Given the description of an element on the screen output the (x, y) to click on. 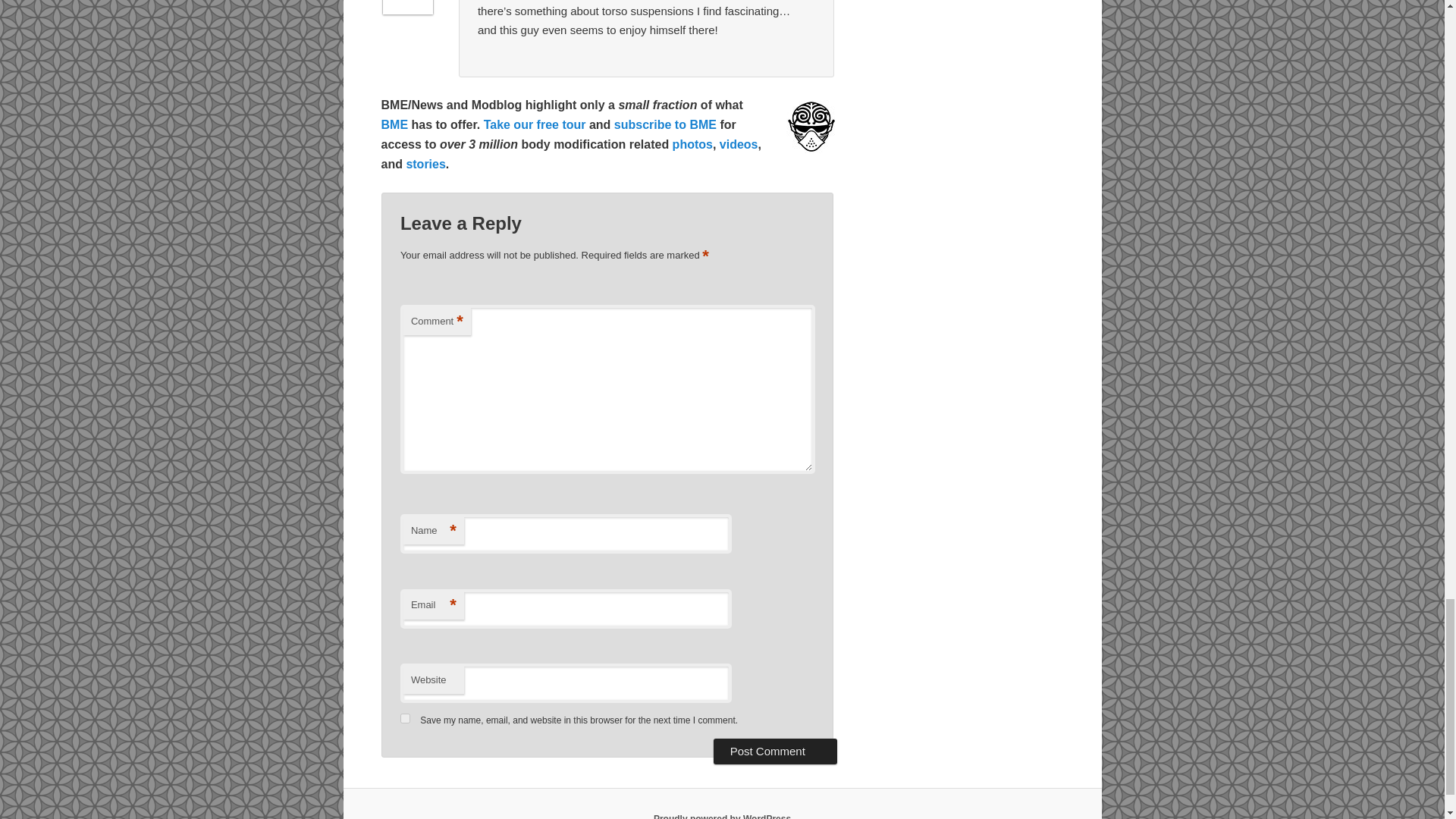
BME (393, 124)
stories (425, 164)
Take our free tour (534, 124)
Post Comment (775, 751)
yes (405, 718)
videos (738, 144)
BME: Body Modification E-zine (393, 124)
Post Comment (775, 751)
subscribe to BME (665, 124)
photos (692, 144)
